Given the description of an element on the screen output the (x, y) to click on. 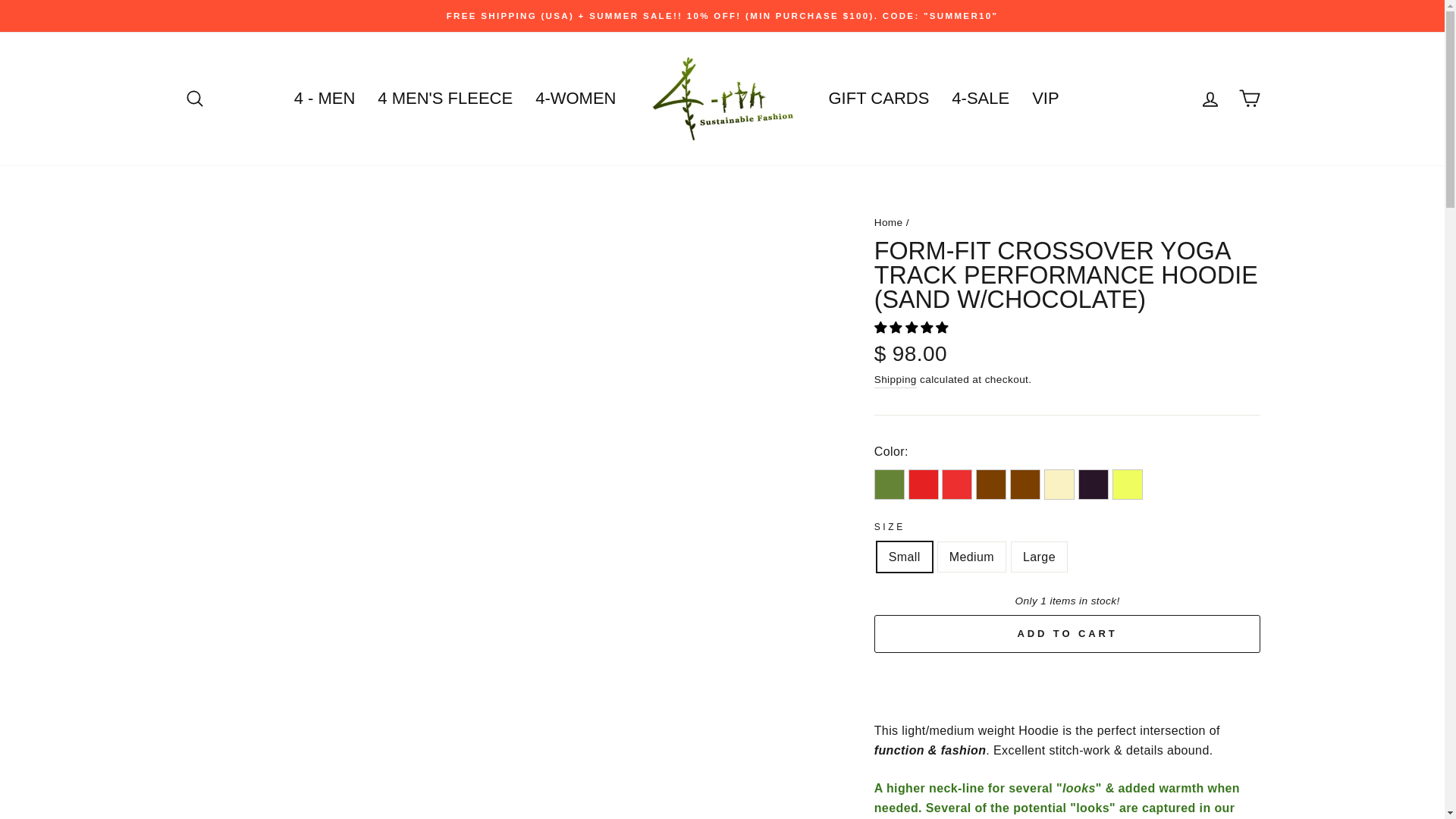
Back to the frontpage (888, 222)
